Given the description of an element on the screen output the (x, y) to click on. 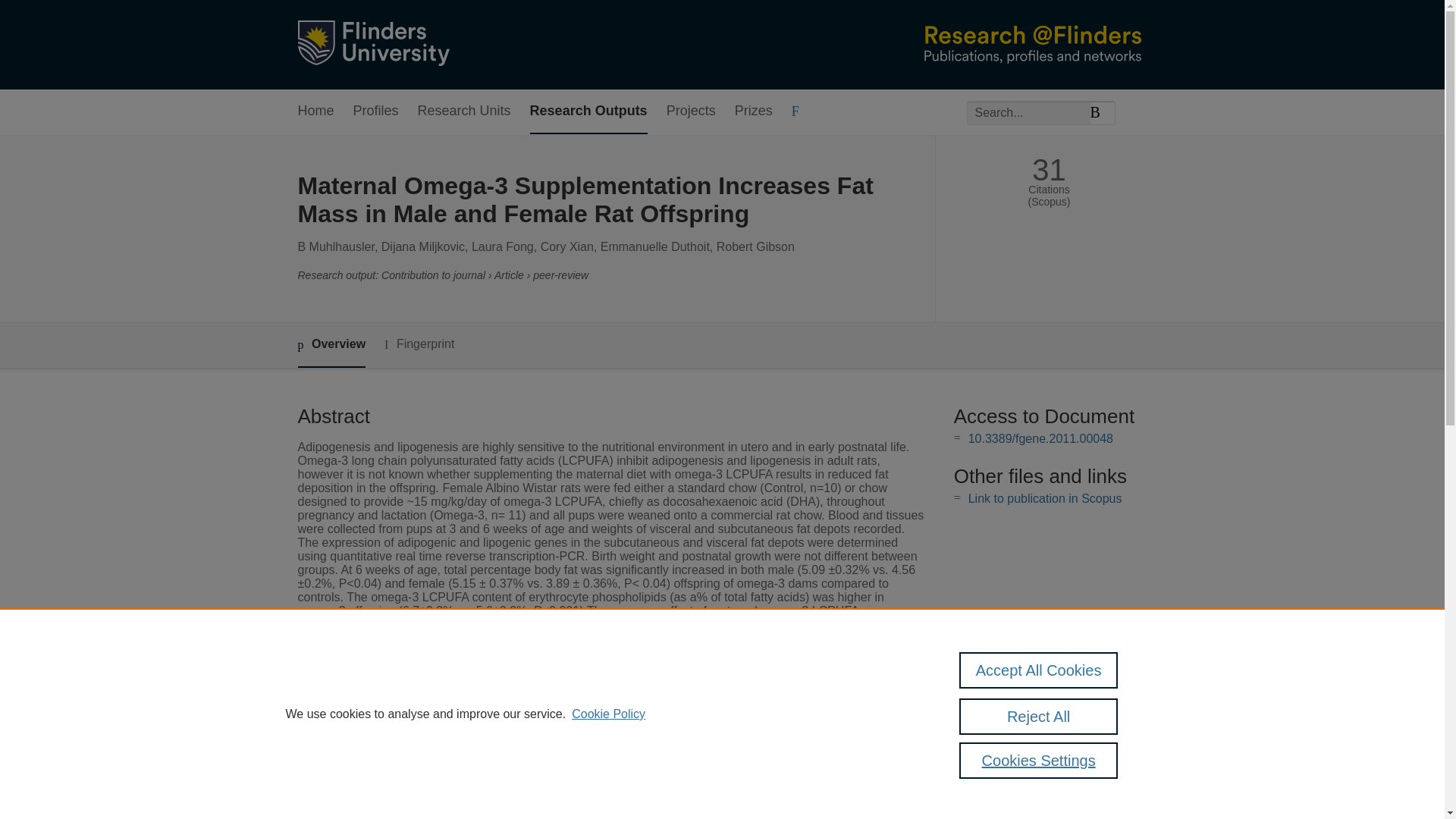
Frontiers in Genetics (565, 783)
Projects (691, 111)
Cookie Policy (608, 713)
Profiles (375, 111)
Fingerprint (419, 344)
Overview (331, 344)
Research Outputs (588, 111)
Research Units (464, 111)
Link to publication in Scopus (1045, 498)
